Given the description of an element on the screen output the (x, y) to click on. 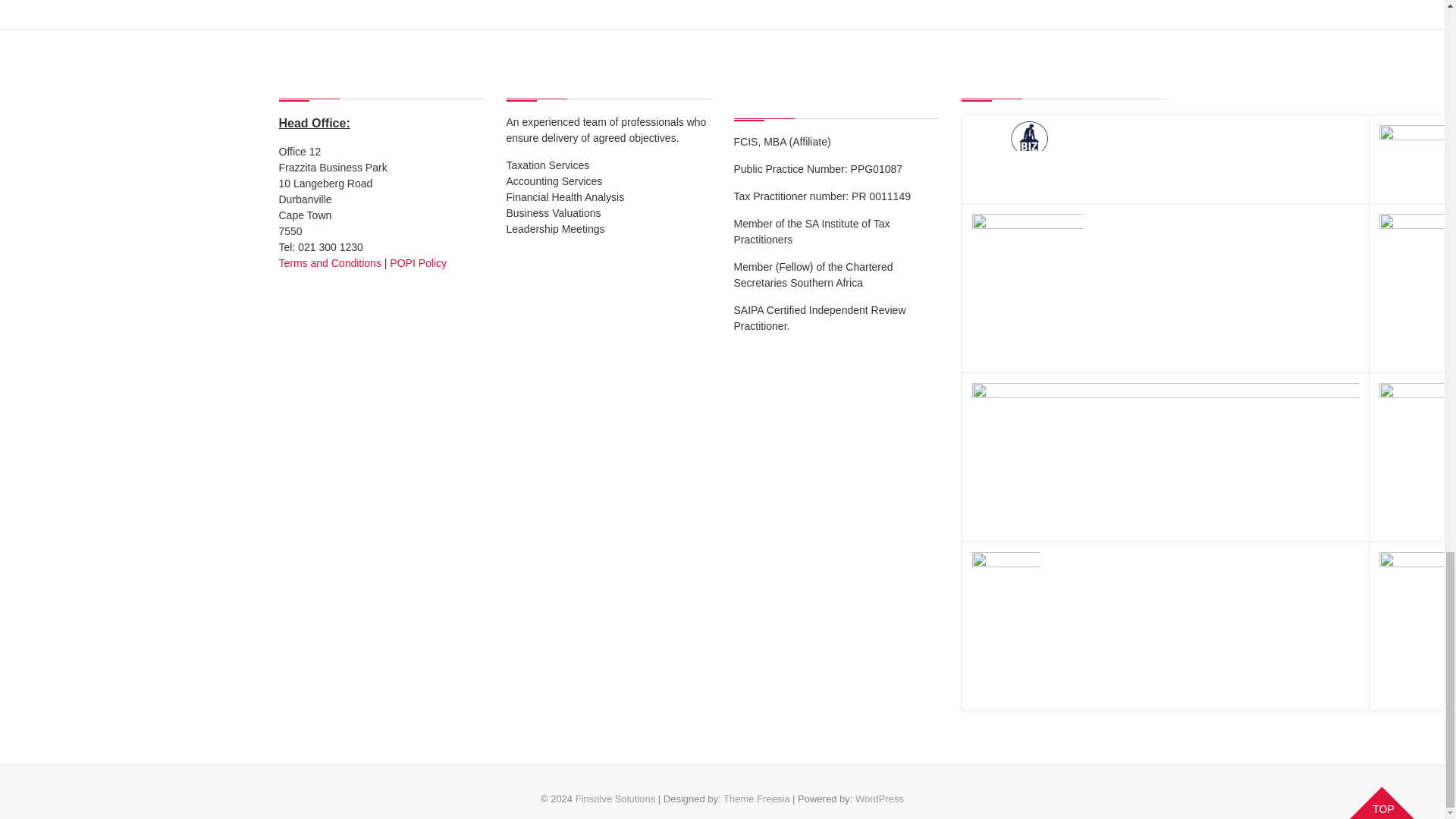
Terms and Conditions (330, 263)
Theme Freesia (756, 798)
Finsolve Solutions (615, 798)
POPI Policy (418, 263)
WordPress (880, 798)
Taxation Services (547, 164)
